Given the description of an element on the screen output the (x, y) to click on. 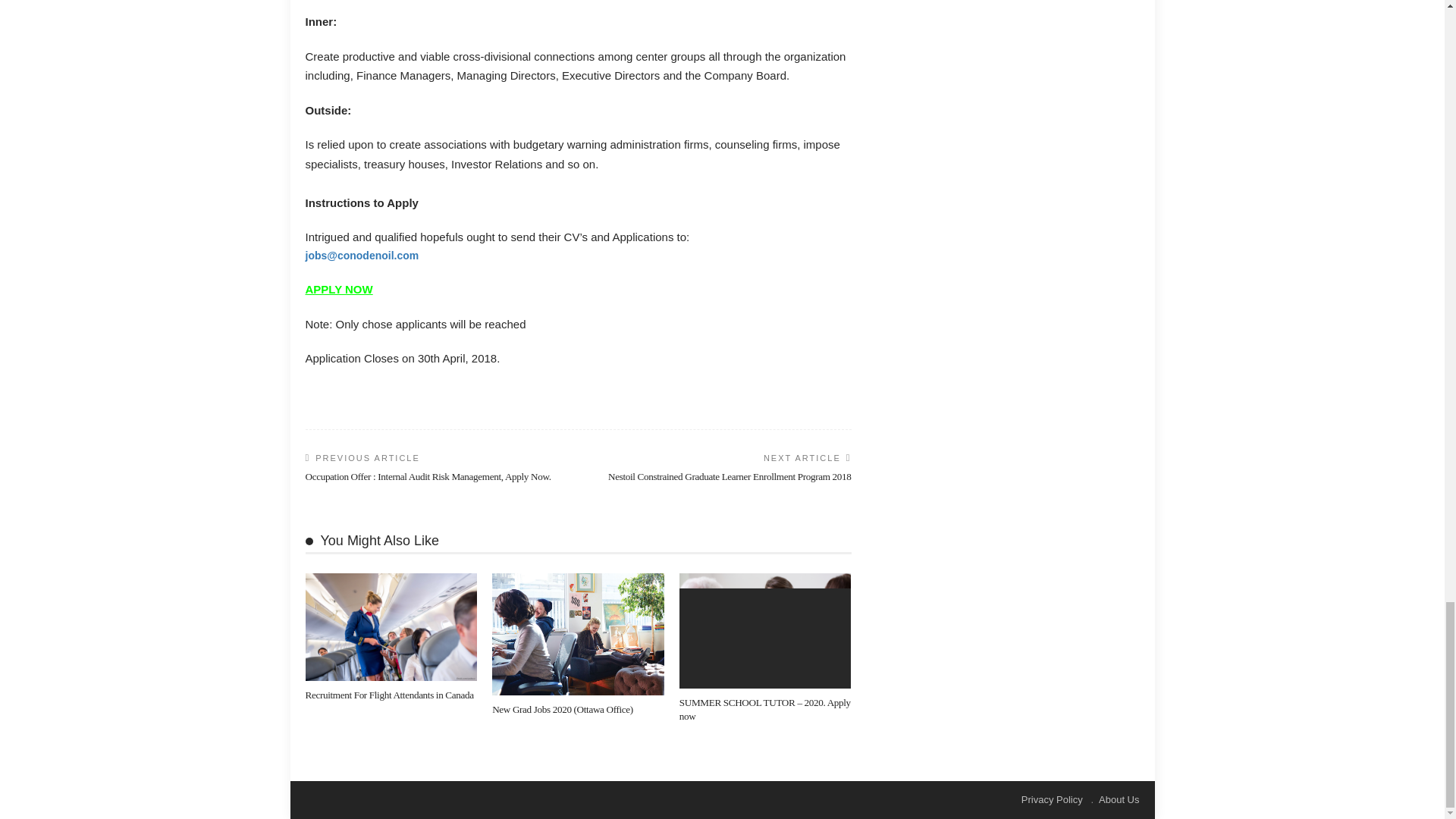
Recruitment For Flight Attendants in Canada (390, 626)
APPLY NOW (338, 288)
Nestoil Constrained Graduate Learner Enrollment Program 2018 (729, 476)
Nestoil Constrained Graduate Learner Enrollment Program 2018 (729, 476)
Recruitment For Flight Attendants in Canada (388, 695)
Recruitment For Flight Attendants in Canada (388, 695)
